Given the description of an element on the screen output the (x, y) to click on. 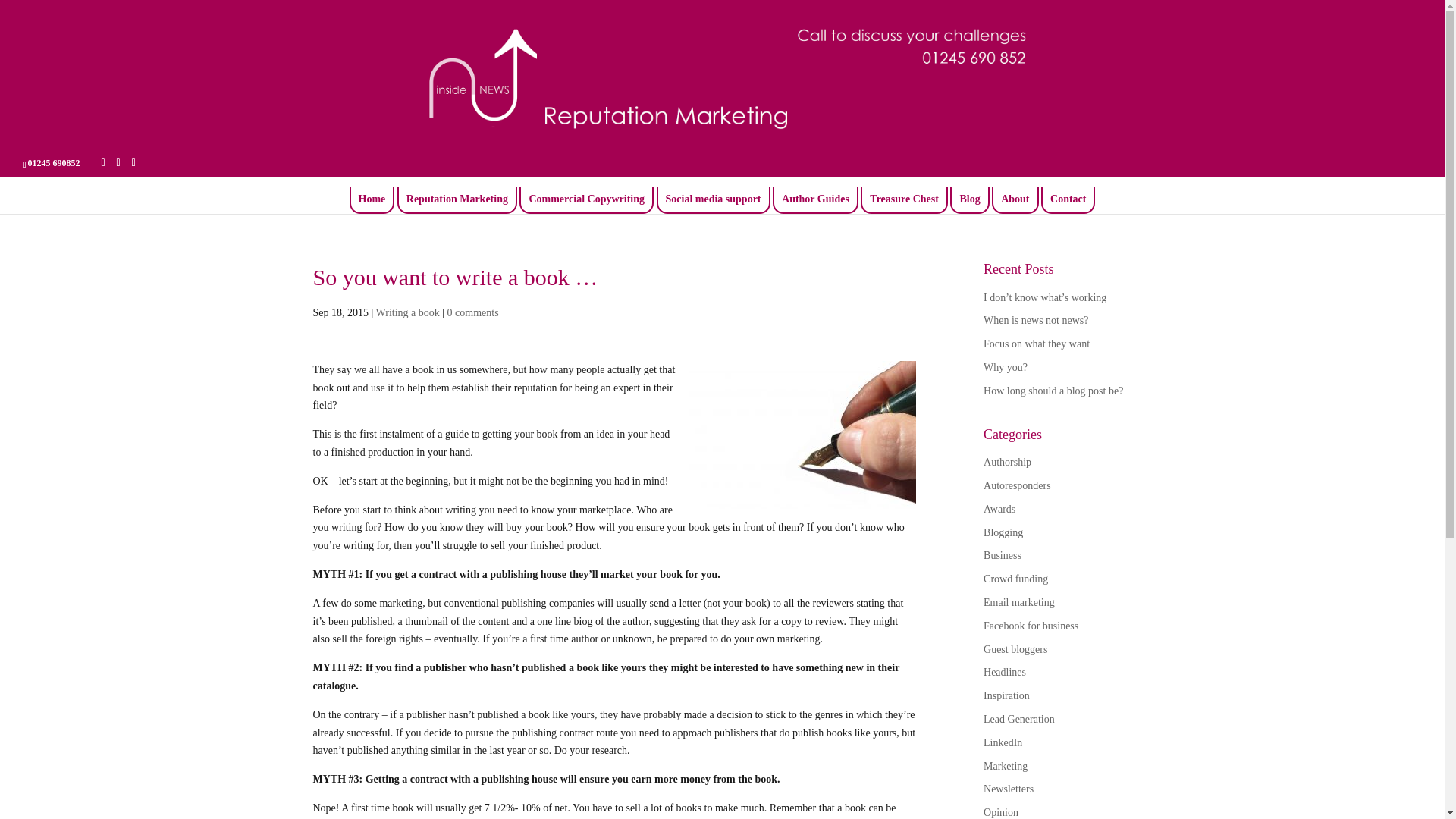
Reputation Marketing (457, 199)
Home (371, 199)
Treasure Chest (904, 199)
Social media support (713, 199)
Contact (1067, 199)
Author Guides (814, 199)
Blog (969, 199)
Commercial Copywriting (586, 199)
About (1015, 199)
